Given the description of an element on the screen output the (x, y) to click on. 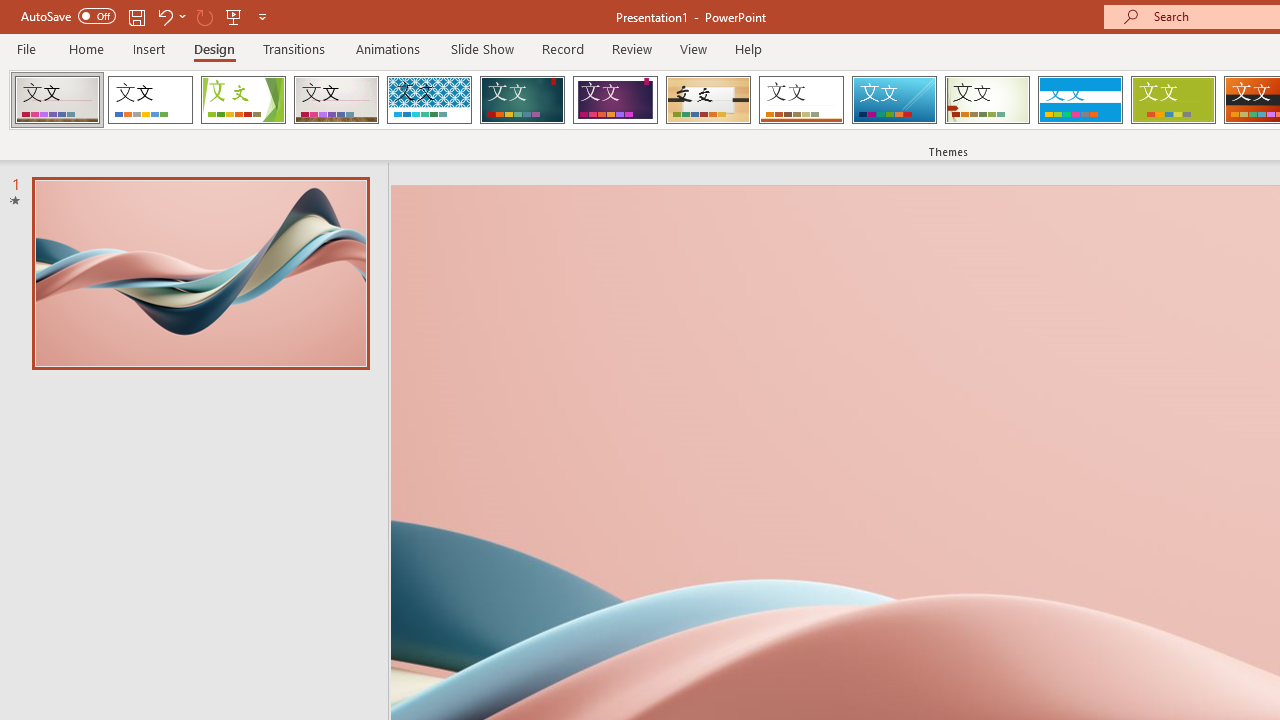
Ion Boardroom (615, 100)
Retrospect (801, 100)
Slice (893, 100)
Banded (1080, 100)
Wisp (987, 100)
